Given the description of an element on the screen output the (x, y) to click on. 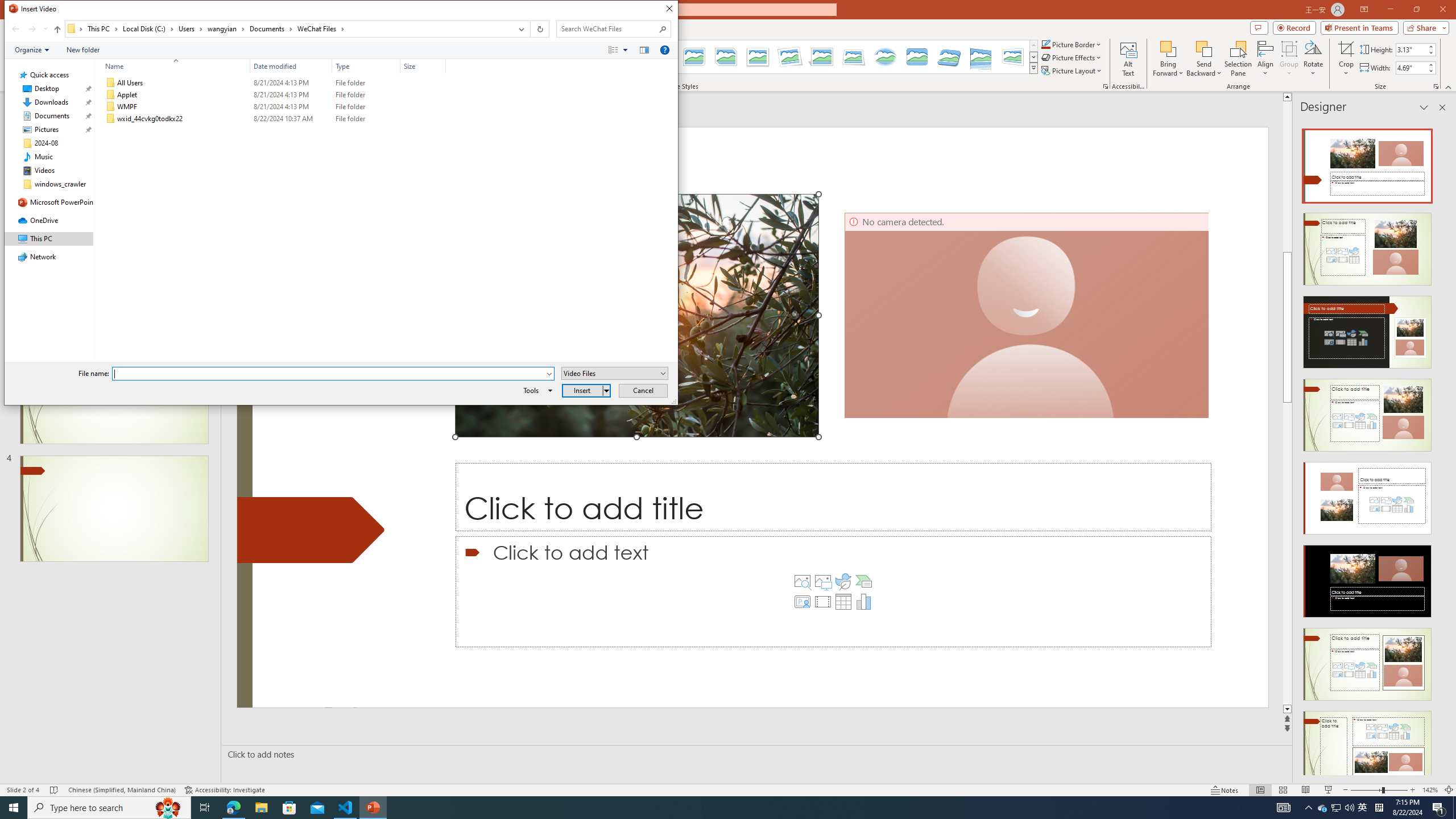
Name (173, 65)
Content Placeholder (833, 591)
Send Backward (1204, 48)
Files of type: (615, 373)
Address: C:\Users\wangyian\Documents\WeChat Files (288, 28)
Type (365, 119)
